Given the description of an element on the screen output the (x, y) to click on. 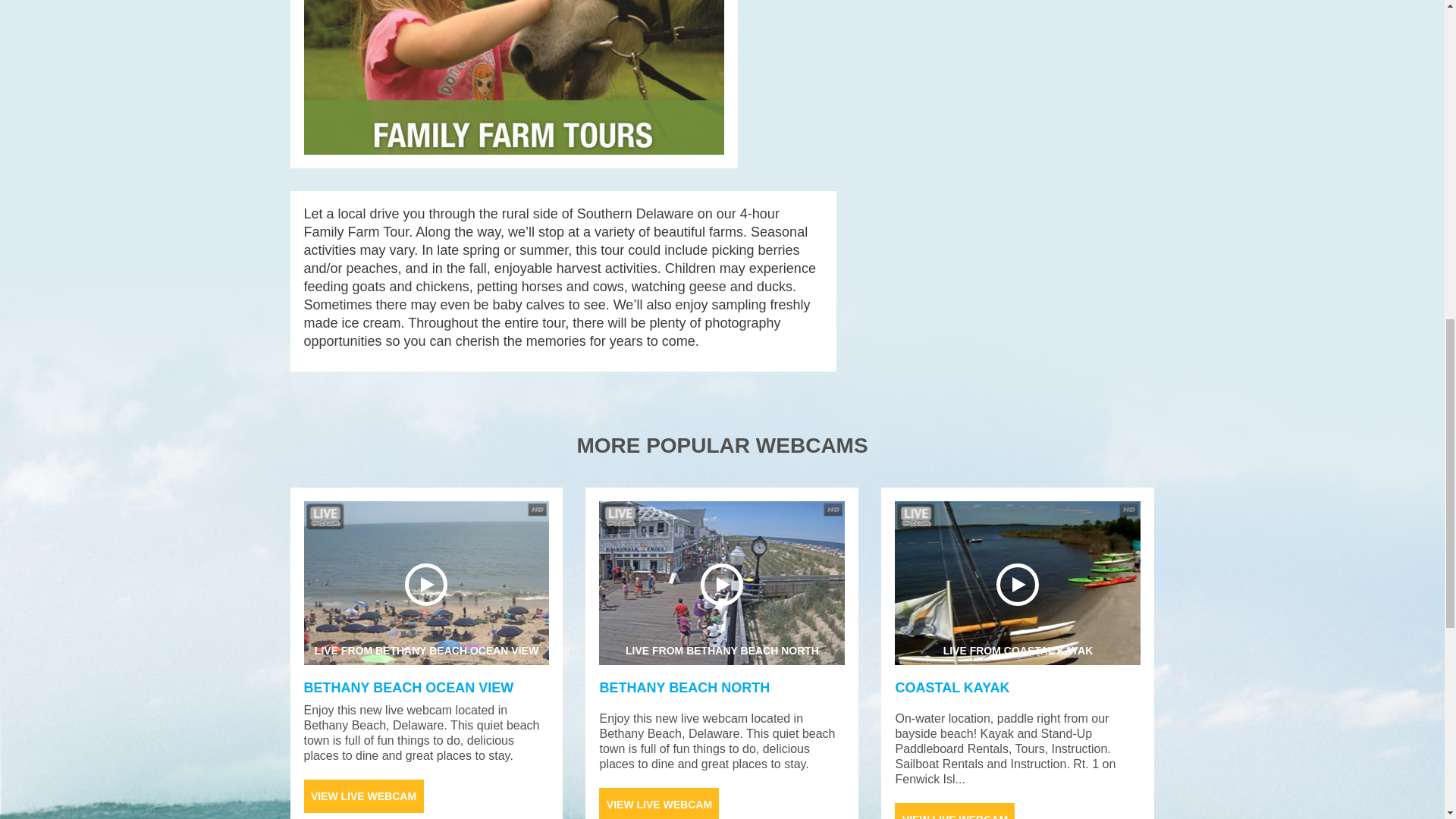
VIEW LIVE WEBCAM (658, 803)
COASTAL KAYAK (1017, 582)
VIEW LIVE WEBCAM (952, 686)
BETHANY BEACH OCEAN VIEW (425, 582)
BETHANY BEACH NORTH (362, 796)
Advertisement (407, 686)
